Given the description of an element on the screen output the (x, y) to click on. 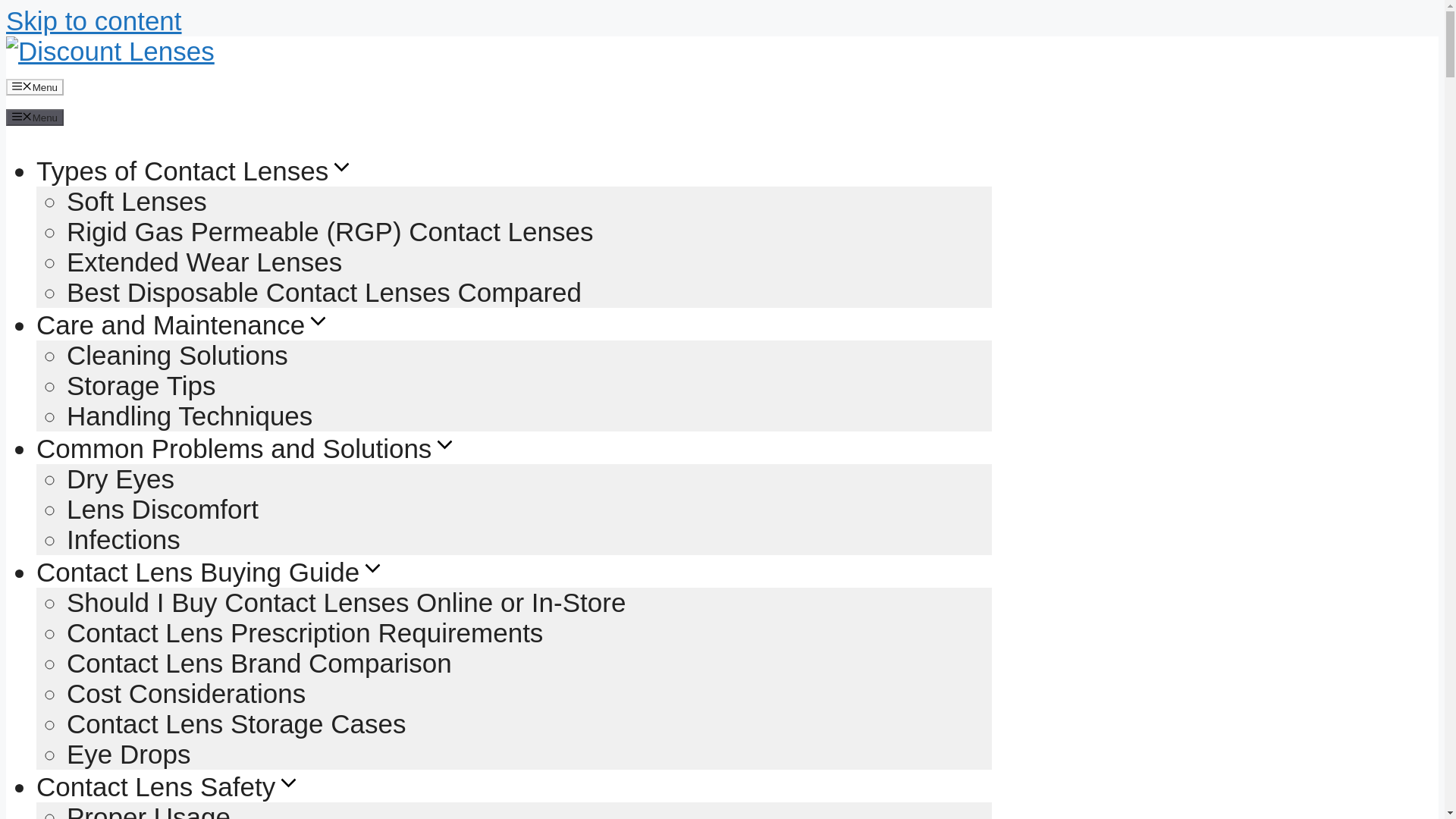
Handling Techniques (189, 415)
Contact Lens Brand Comparison (258, 663)
Contact Lens Prescription Requirements (304, 632)
Skip to content (93, 20)
Best Disposable Contact Lenses Compared (323, 292)
Common Problems and Solutions (247, 448)
Menu (34, 117)
Storage Tips (140, 385)
Dry Eyes (120, 478)
Should I Buy Contact Lenses Online or In-Store (346, 602)
